Given the description of an element on the screen output the (x, y) to click on. 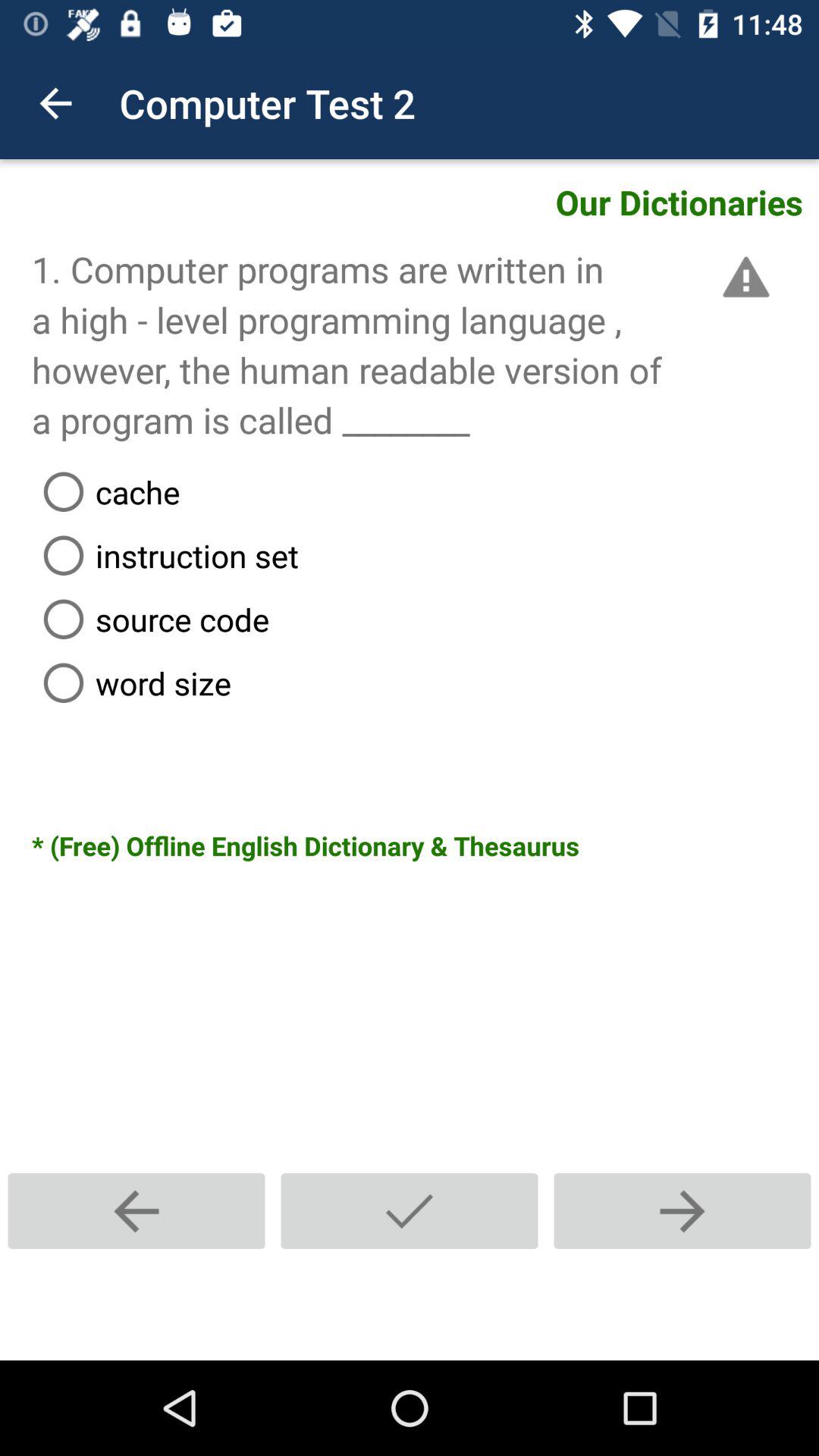
go forward (682, 1210)
